Given the description of an element on the screen output the (x, y) to click on. 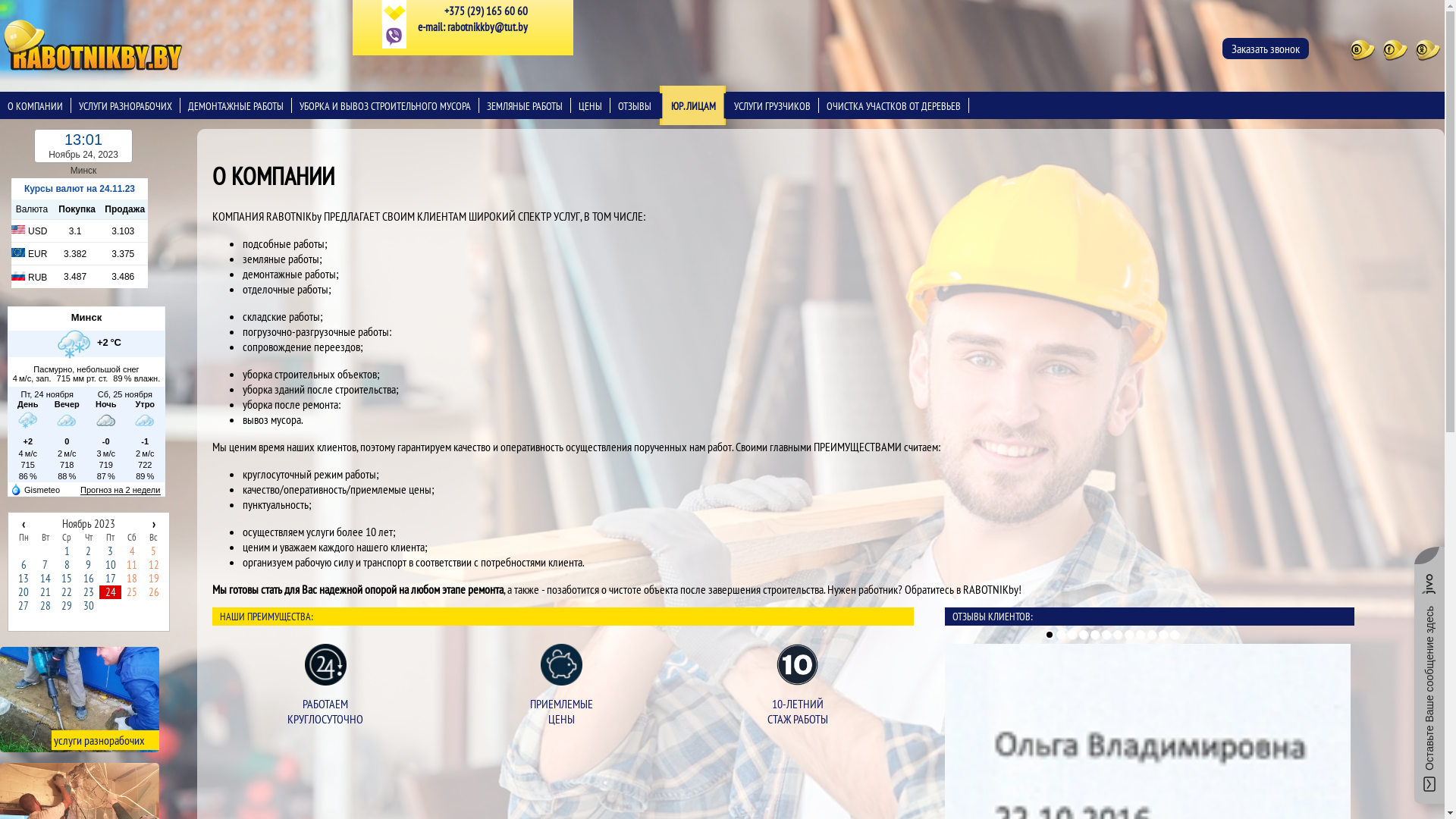
+375 (29) 165 60 60 Element type: text (472, 10)
e-mail: rabotnikkby@tut.by Element type: text (472, 26)
